Given the description of an element on the screen output the (x, y) to click on. 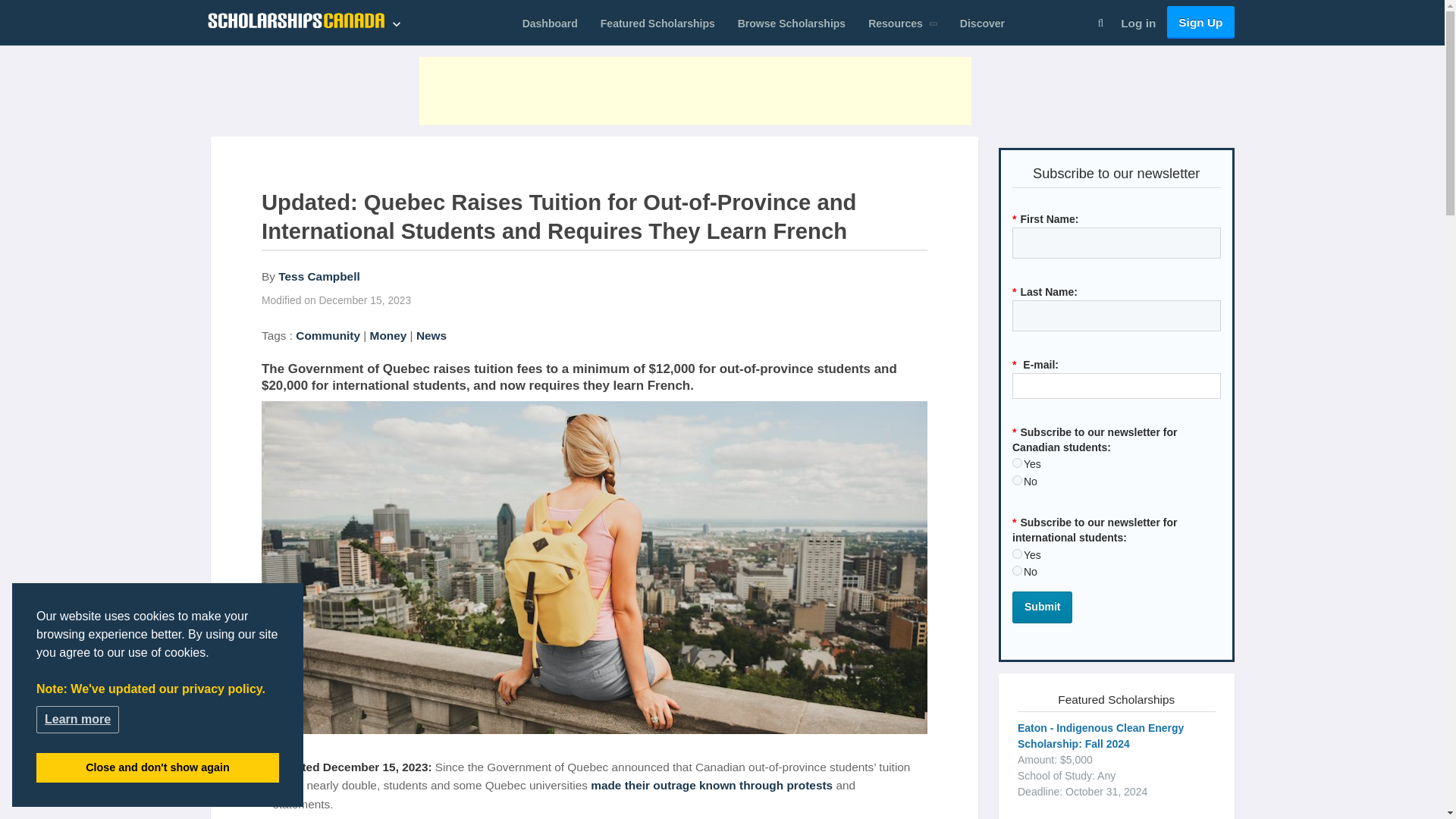
News (431, 335)
Learn more (77, 718)
made their outrage known through protests (711, 784)
Discover (982, 24)
Advertisement (695, 90)
Community (327, 335)
Resources (903, 24)
Tess Campbell (318, 276)
Money (388, 335)
Featured Scholarships (657, 24)
Browse Scholarships (791, 24)
Close and don't show again (157, 767)
mySTUFF (550, 24)
Featured Scholarships (657, 24)
Dashboard (550, 24)
